Given the description of an element on the screen output the (x, y) to click on. 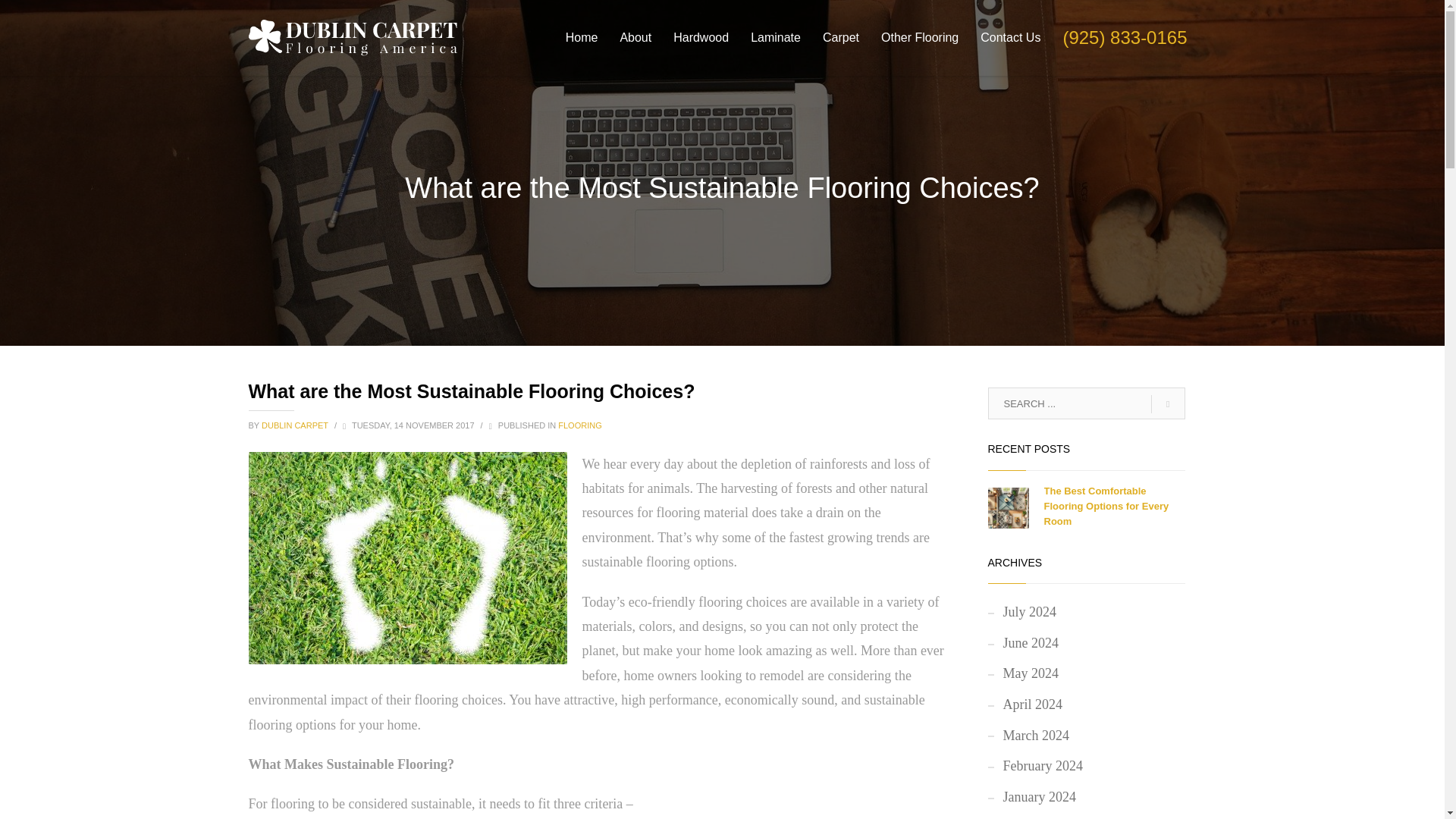
Laminate (775, 37)
Contact Us (1010, 37)
DUBLIN CARPET (296, 424)
The Best Comfortable Flooring Options for Every Room (1106, 506)
The Best Comfortable Flooring Options for Every Room (1106, 506)
go (1168, 404)
Home (581, 37)
FLOORING (579, 424)
July 2024 (1086, 612)
Hardwood (700, 37)
About (635, 37)
Other Flooring (920, 37)
Carpet (840, 37)
Pleasanton Area Rugs (407, 558)
